Given the description of an element on the screen output the (x, y) to click on. 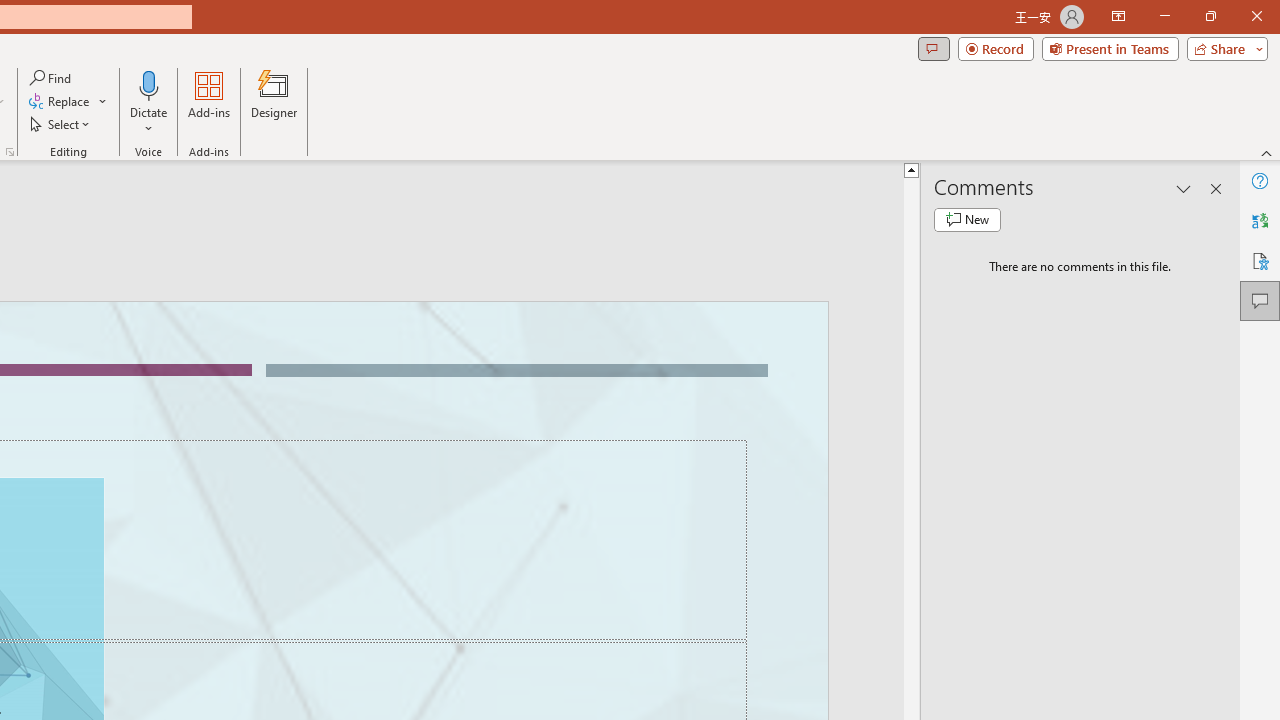
Collapse the Ribbon (1267, 152)
Find... (51, 78)
Share (1223, 48)
Close pane (1215, 188)
Replace... (68, 101)
Task Pane Options (1183, 188)
Designer (274, 102)
Comments (1260, 300)
New comment (967, 219)
Help (1260, 180)
Select (61, 124)
